Given the description of an element on the screen output the (x, y) to click on. 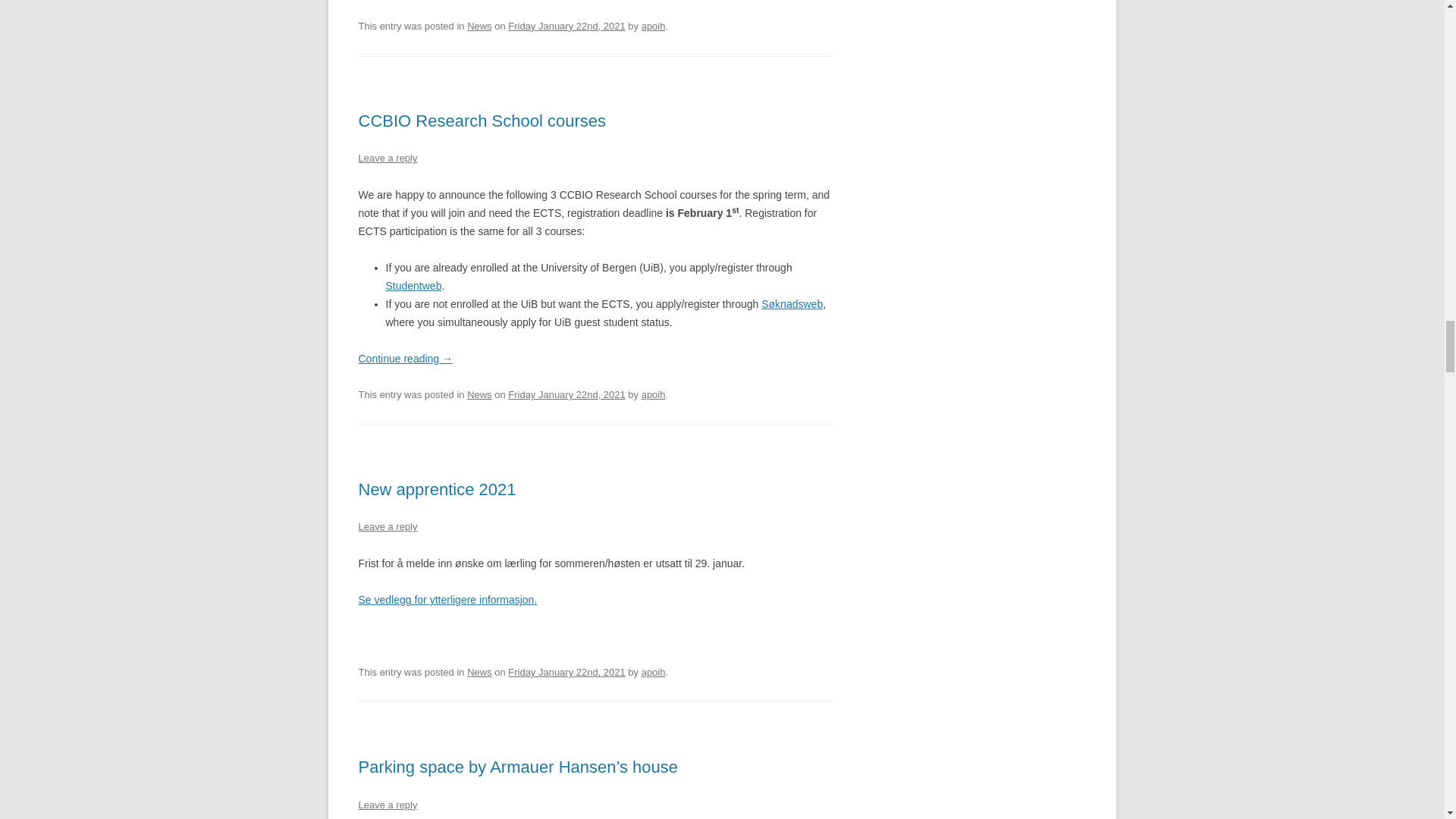
View all posts by apoih (653, 25)
11:18 AM (566, 394)
11:19 AM (566, 25)
